Given the description of an element on the screen output the (x, y) to click on. 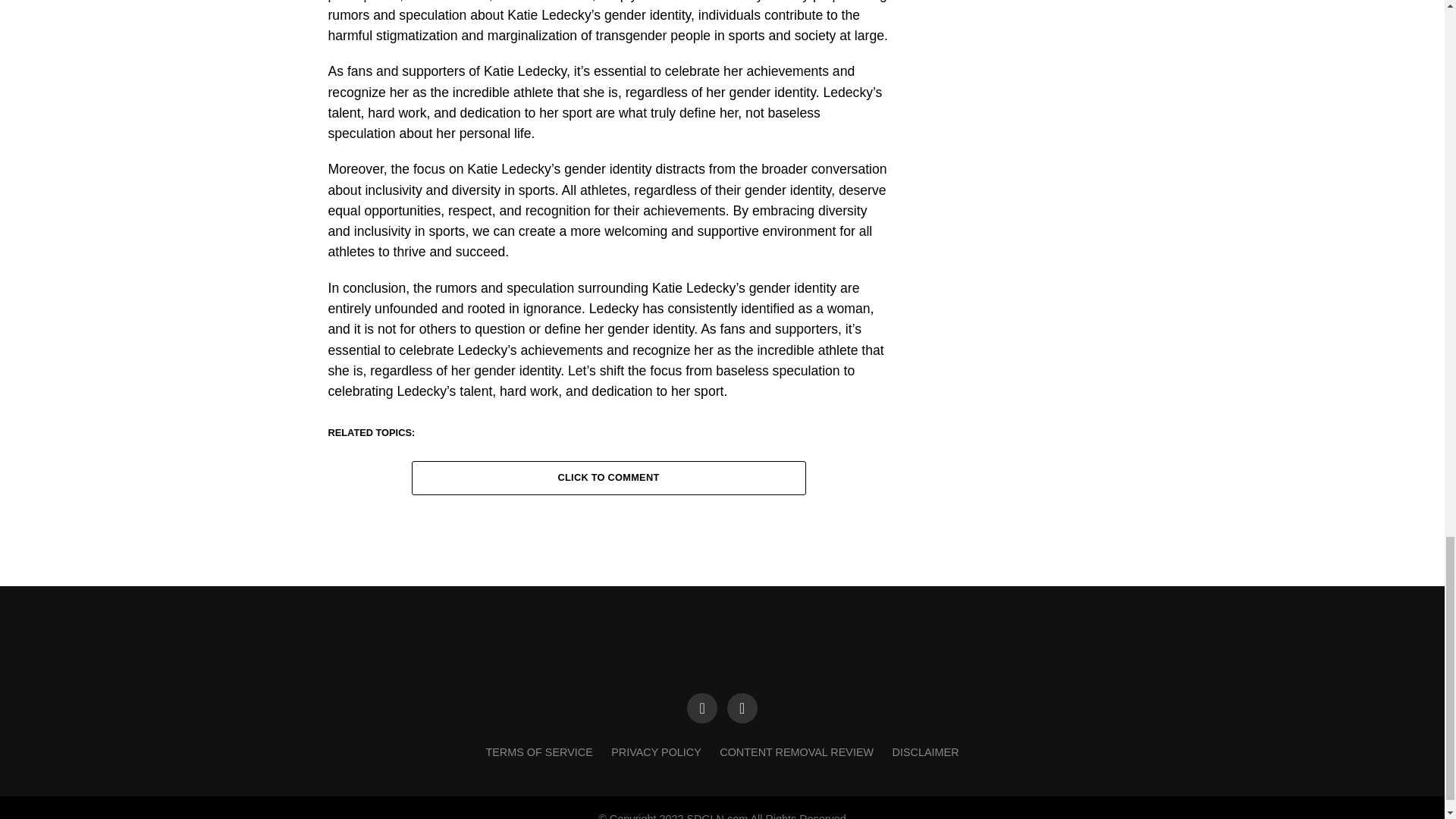
CONTENT REMOVAL REVIEW (796, 752)
PRIVACY POLICY (656, 752)
TERMS OF SERVICE (538, 752)
DISCLAIMER (925, 752)
